Given the description of an element on the screen output the (x, y) to click on. 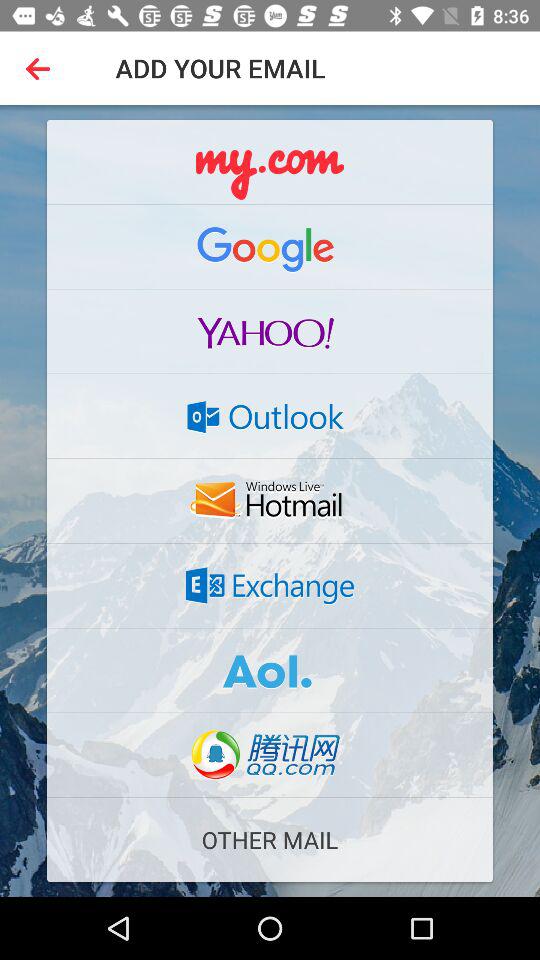
select the item to the left of the add your email item (41, 68)
